Given the description of an element on the screen output the (x, y) to click on. 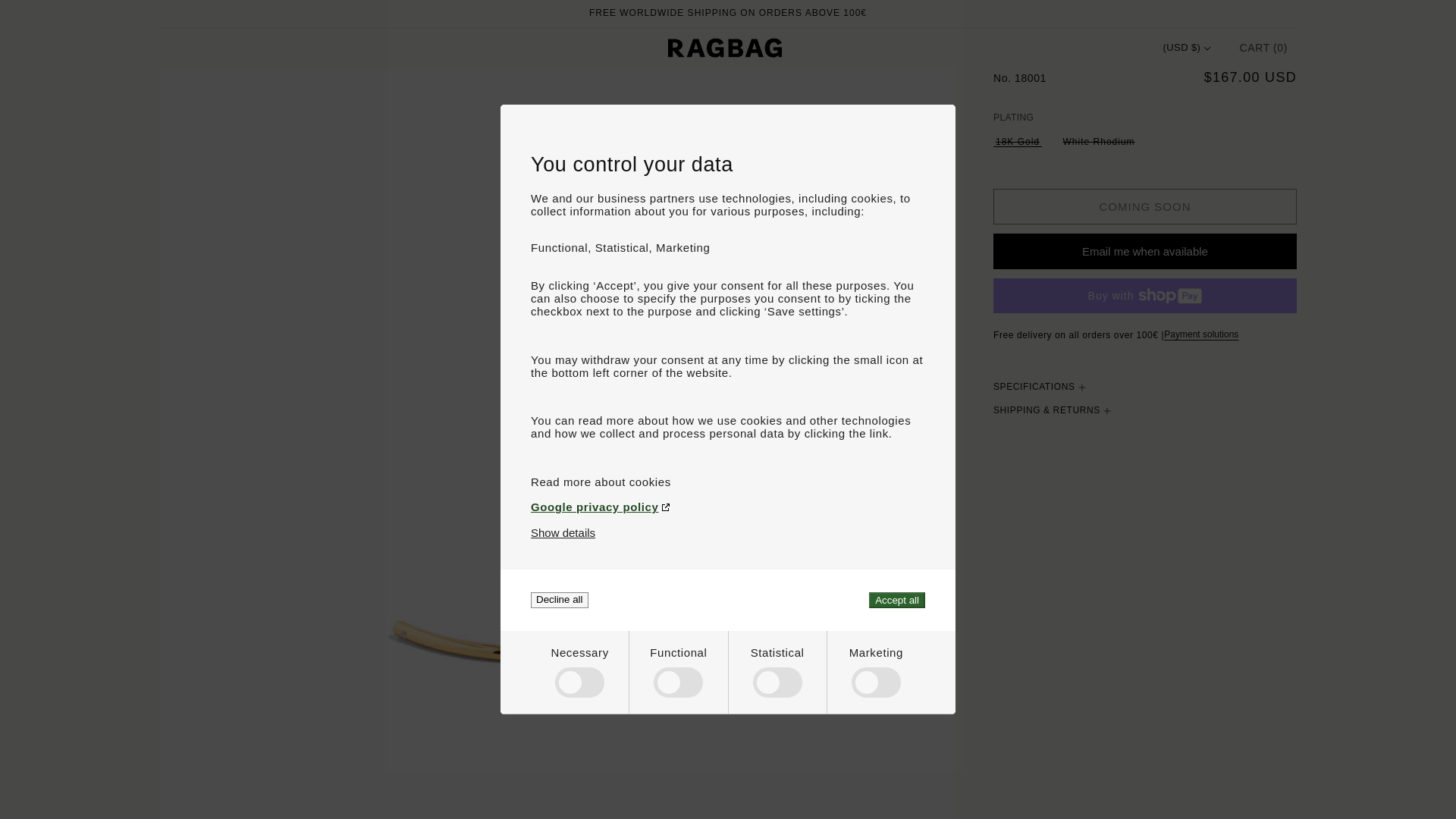
Show details (563, 532)
Google privacy policy (727, 506)
Read more about cookies (727, 481)
